Given the description of an element on the screen output the (x, y) to click on. 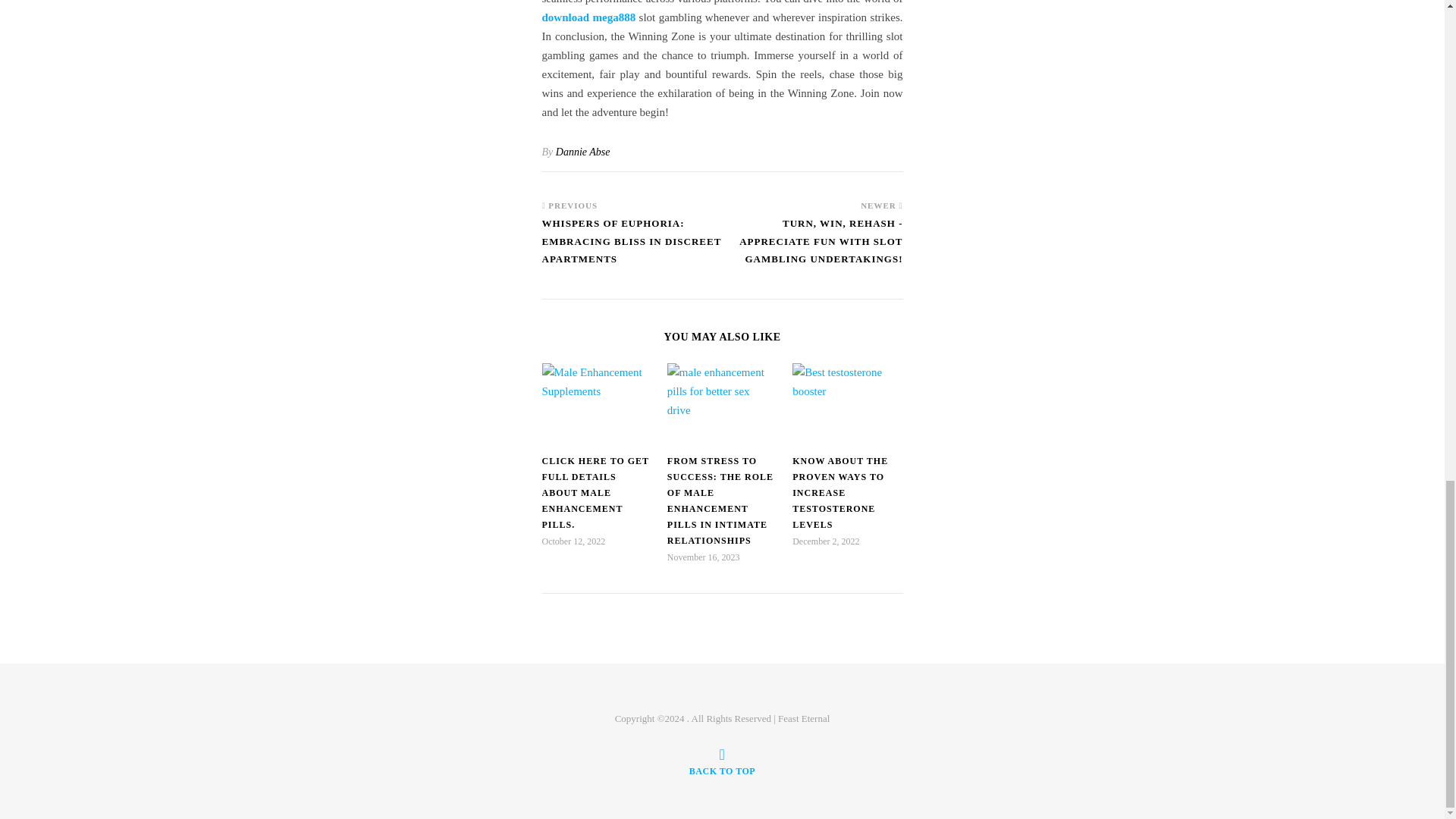
WHISPERS OF EUPHORIA: EMBRACING BLISS IN DISCREET APARTMENTS (631, 247)
CLICK HERE TO GET FULL DETAILS ABOUT MALE ENHANCEMENT PILLS. (594, 492)
Posts by Dannie Abse (583, 152)
KNOW ABOUT THE PROVEN WAYS TO INCREASE TESTOSTERONE LEVELS (840, 492)
download mega888 (587, 17)
BACK TO TOP (722, 761)
Dannie Abse (583, 152)
